Given the description of an element on the screen output the (x, y) to click on. 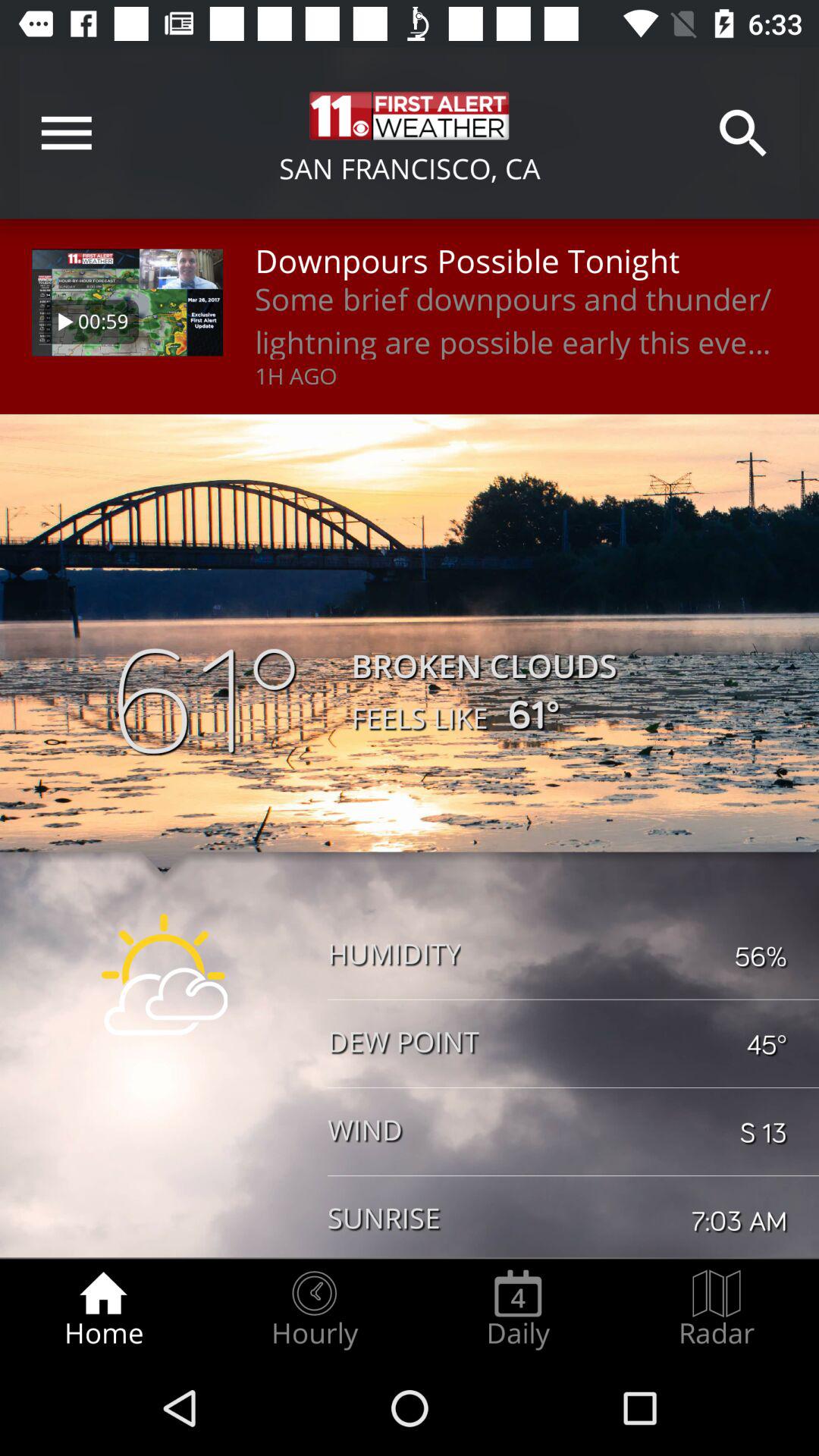
tap the home (103, 1309)
